Given the description of an element on the screen output the (x, y) to click on. 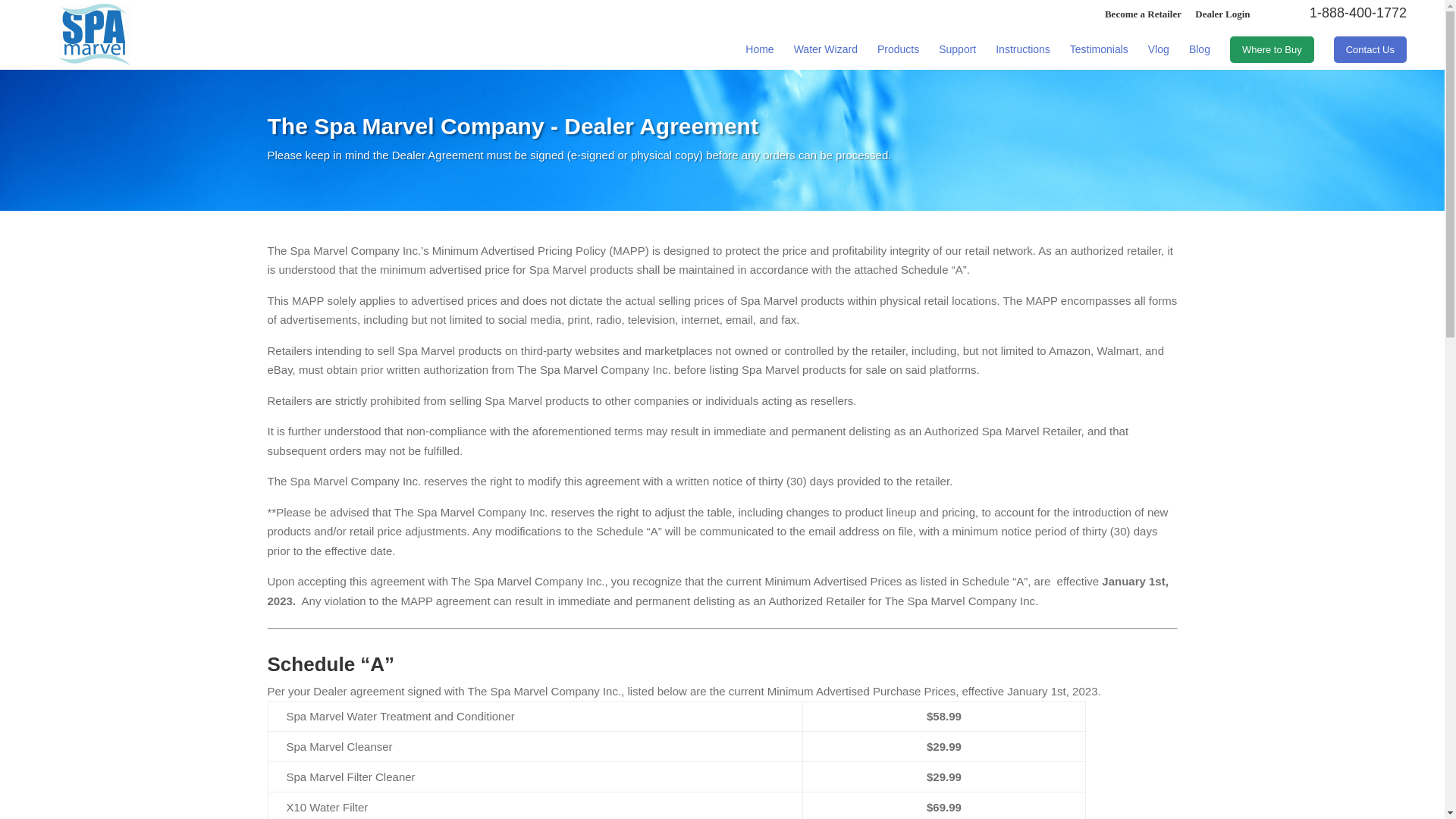
Blog (1199, 53)
Products (897, 53)
 Dealer Login  (1222, 13)
Vlog (1158, 53)
Home (759, 53)
Become a Retailer (1142, 13)
Testimonials (1099, 53)
Support (957, 53)
Contact Us (1369, 49)
Spa Marvel Logo-notTag (94, 34)
Water Wizard (825, 53)
Instructions (1022, 53)
Where to Buy (1272, 49)
